Given the description of an element on the screen output the (x, y) to click on. 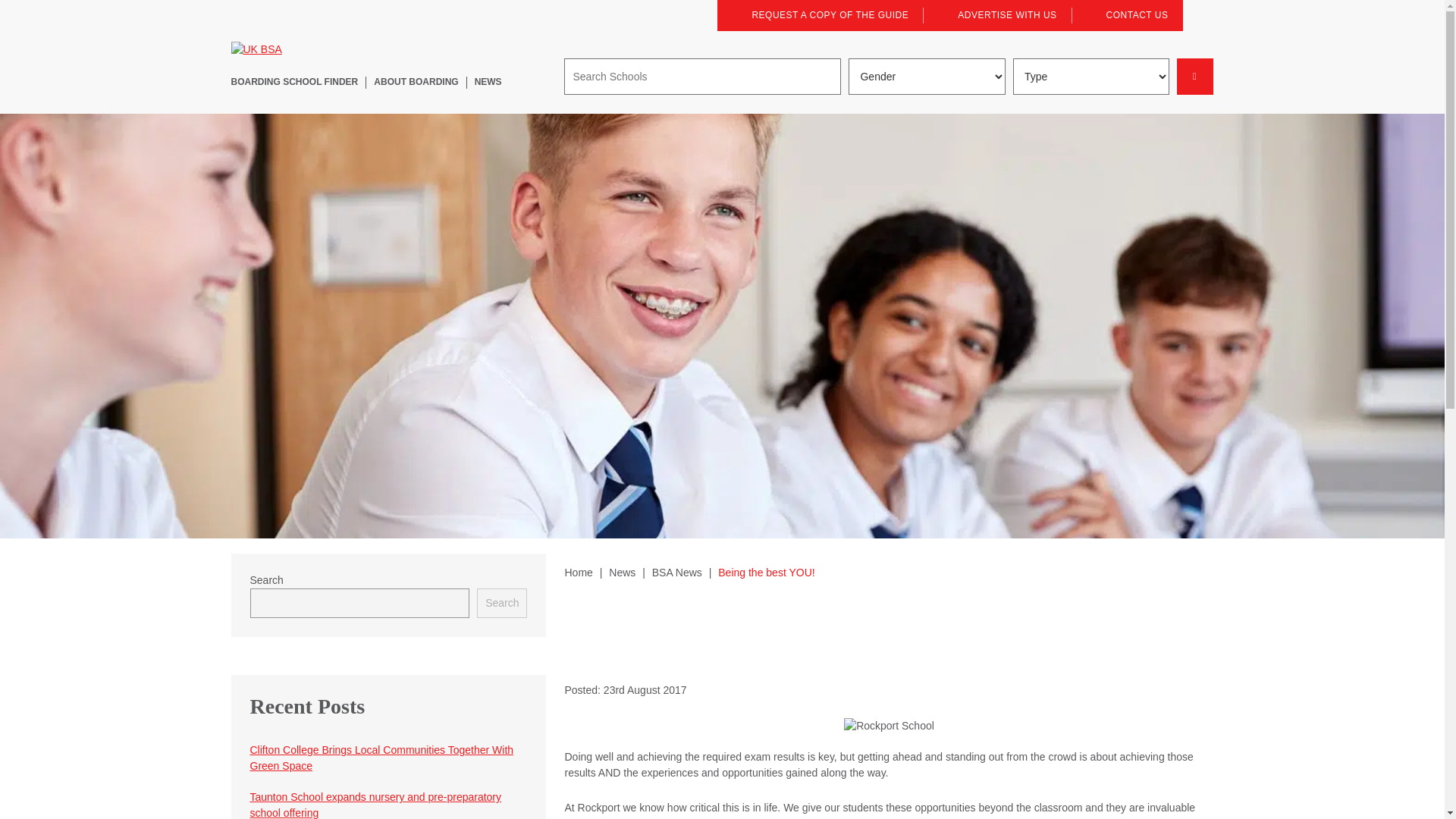
Go to the BSA News Category archives. (676, 572)
BOARDING SCHOOL FINDER (294, 82)
News (621, 572)
Go to UK BSA. (578, 572)
CONTACT US (1128, 15)
ABOUT BOARDING (415, 82)
ADVERTISE WITH US (998, 15)
REQUEST A COPY OF THE GUIDE (820, 15)
NEWS (488, 82)
Home (578, 572)
BSA News (676, 572)
Search (502, 603)
Go to News. (621, 572)
